Given the description of an element on the screen output the (x, y) to click on. 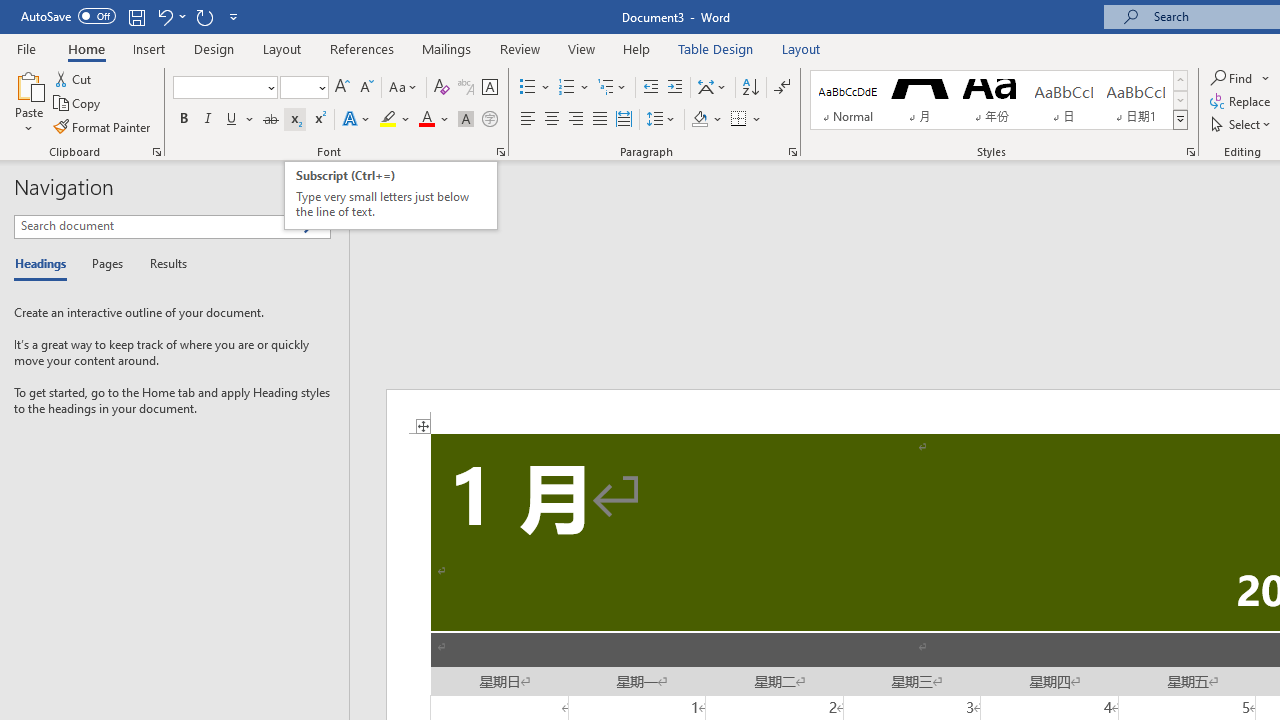
Character Border (489, 87)
Grow Font (342, 87)
Change Case (404, 87)
Character Shading (465, 119)
Distributed (623, 119)
Strikethrough (270, 119)
Font... (500, 151)
Subscript (294, 119)
Align Right (575, 119)
